Given the description of an element on the screen output the (x, y) to click on. 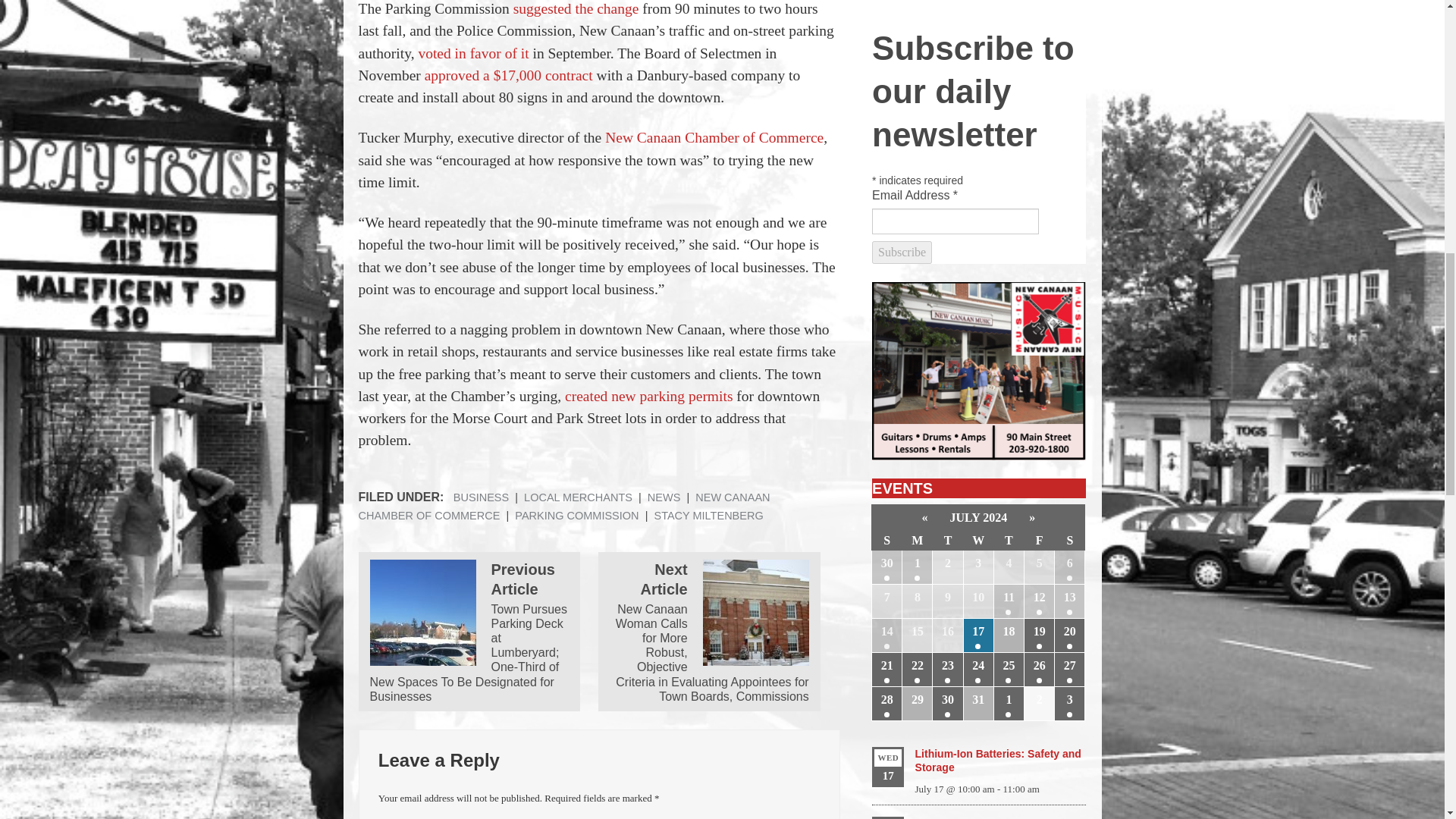
Subscribe (901, 251)
